Given the description of an element on the screen output the (x, y) to click on. 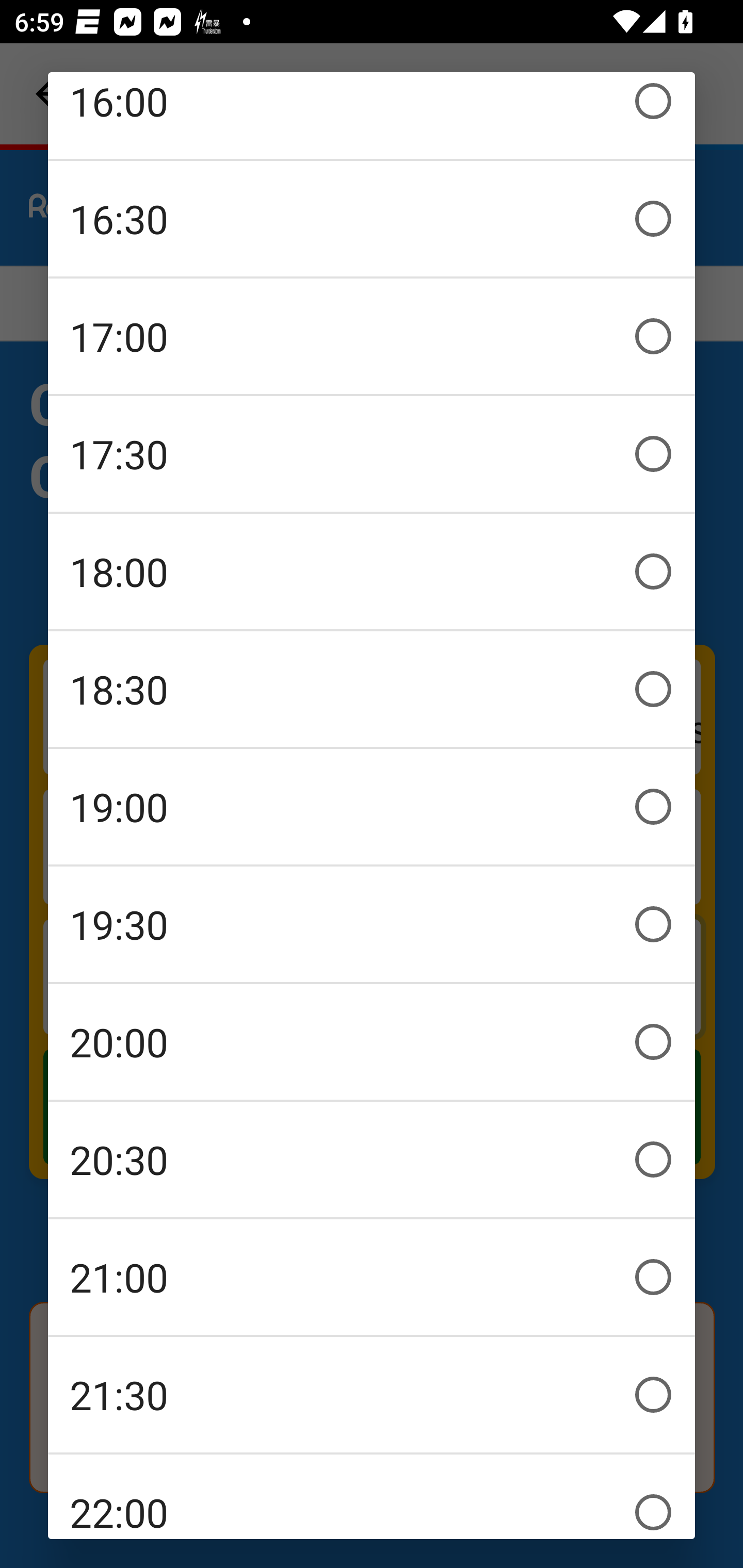
16:00 (371, 115)
16:30 (371, 218)
17:00 (371, 336)
17:30 (371, 453)
18:00 (371, 571)
18:30 (371, 688)
19:00 (371, 806)
19:30 (371, 924)
20:00 (371, 1041)
20:30 (371, 1159)
21:00 (371, 1276)
21:30 (371, 1394)
22:00 (371, 1497)
